Given the description of an element on the screen output the (x, y) to click on. 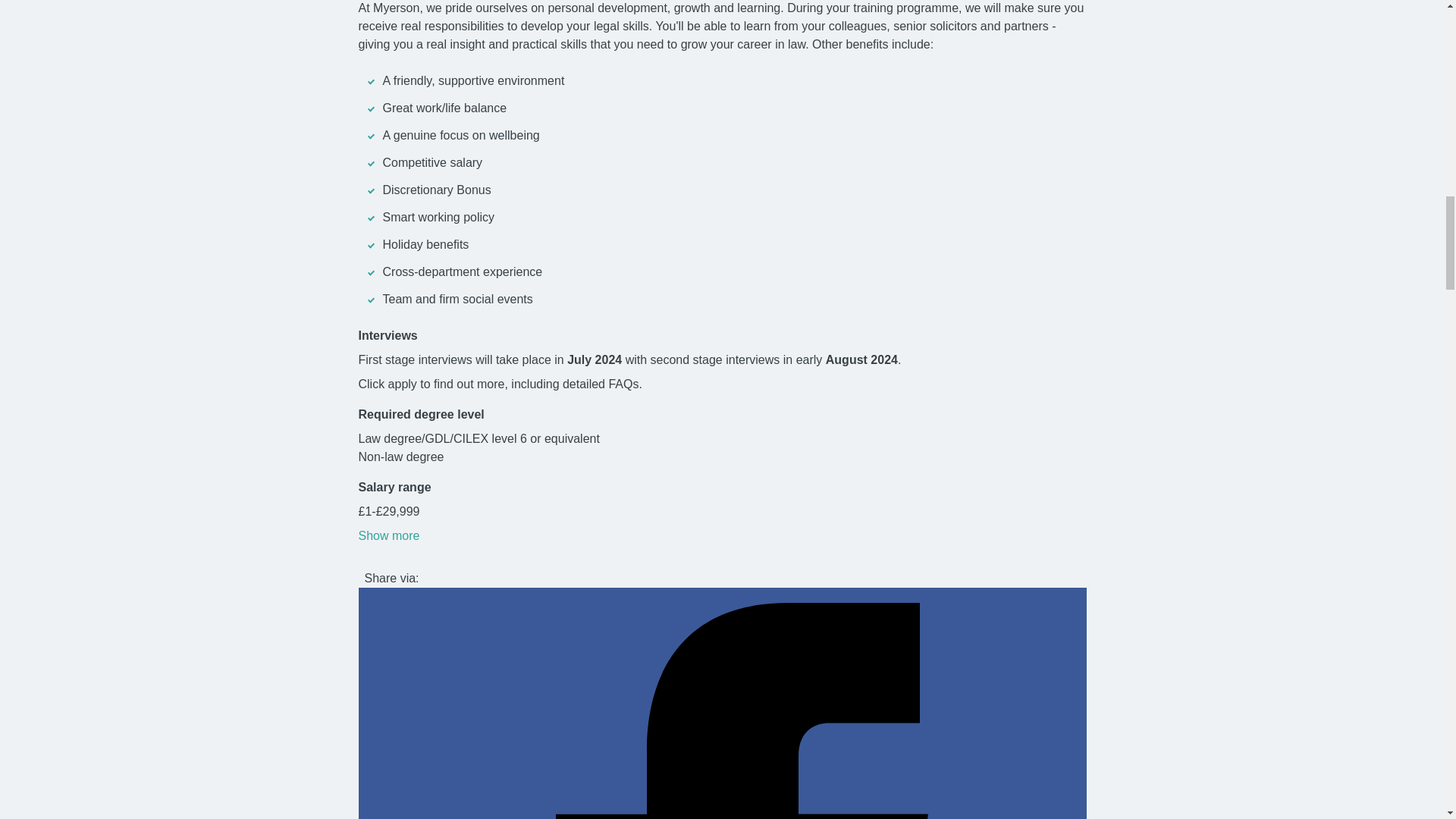
Show more (388, 535)
